Given the description of an element on the screen output the (x, y) to click on. 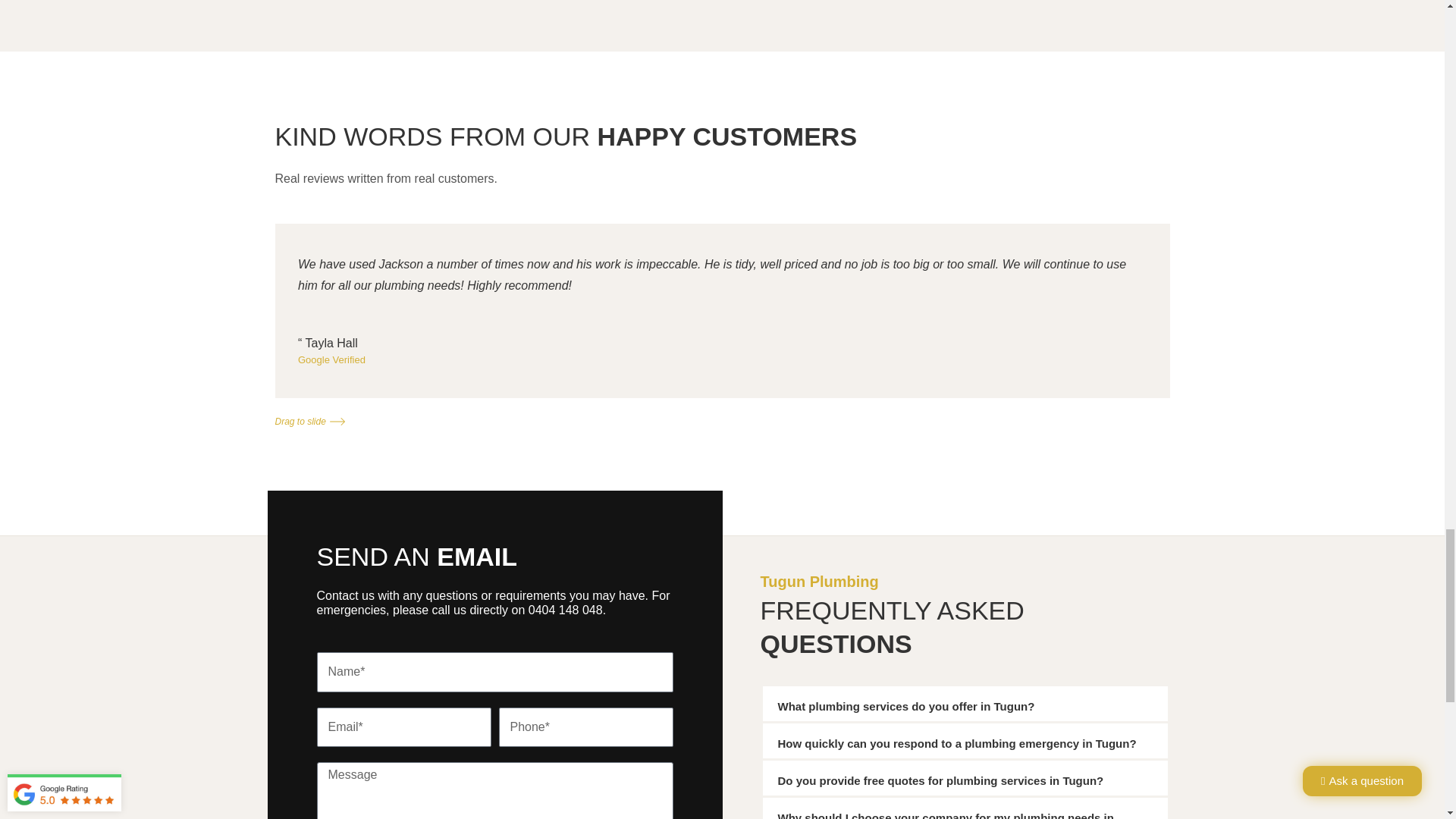
Do you provide free quotes for plumbing services in Tugun? (940, 780)
What plumbing services do you offer in Tugun? (906, 706)
